Given the description of an element on the screen output the (x, y) to click on. 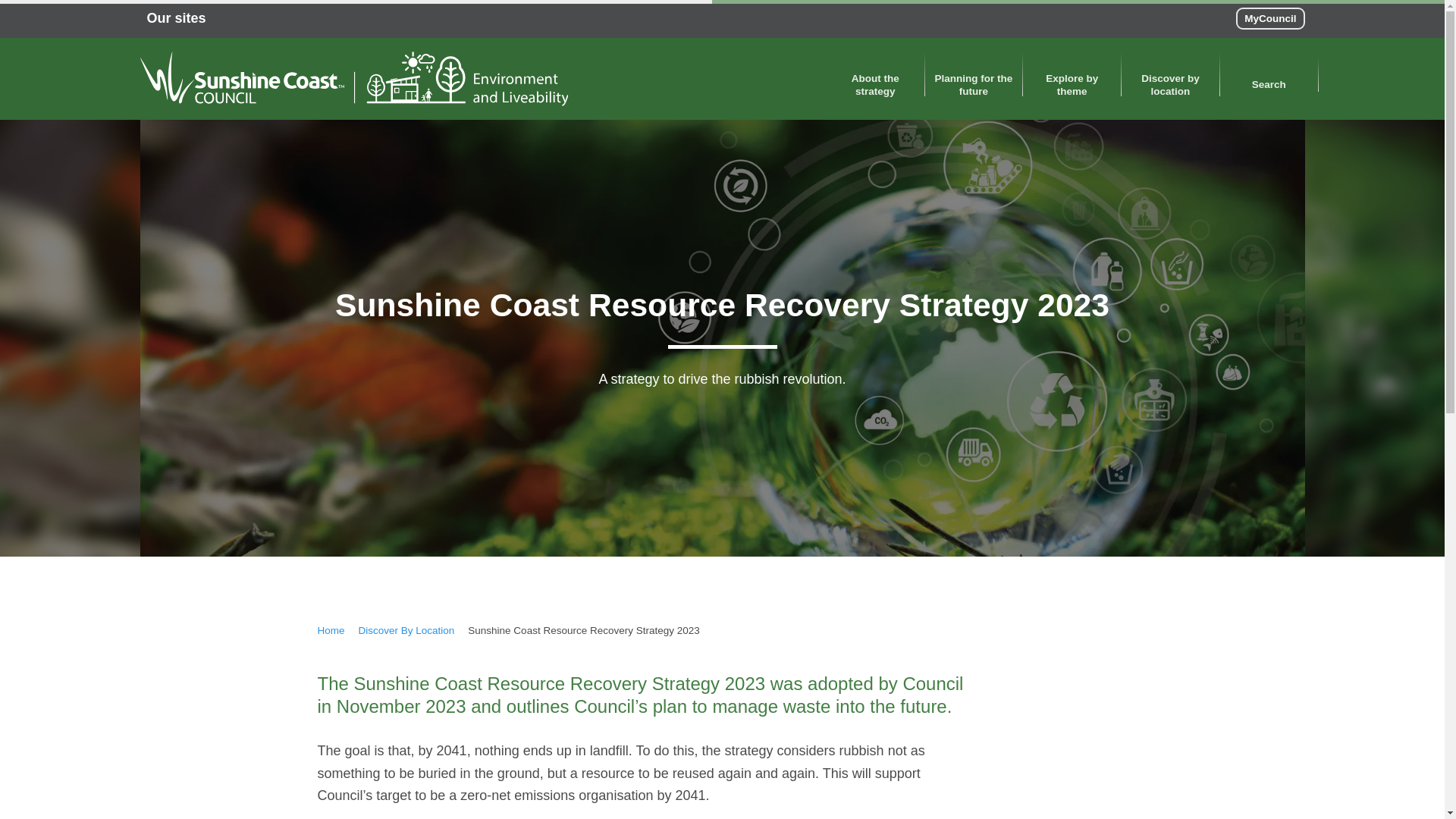
Discover by location (1170, 78)
Explore by theme (1071, 78)
Planning for the future (973, 78)
ELS homepage (353, 78)
Sunshine Coast Resource Recovery Strategy 2023 (583, 630)
Homepage (331, 630)
Home (331, 630)
Discover By Location (406, 630)
About the strategy (874, 78)
Explore by theme (1071, 78)
Planning for the future (973, 78)
Discover By Location (406, 630)
MyCouncil (1270, 18)
Search (1269, 78)
About the strategy (874, 78)
